Given the description of an element on the screen output the (x, y) to click on. 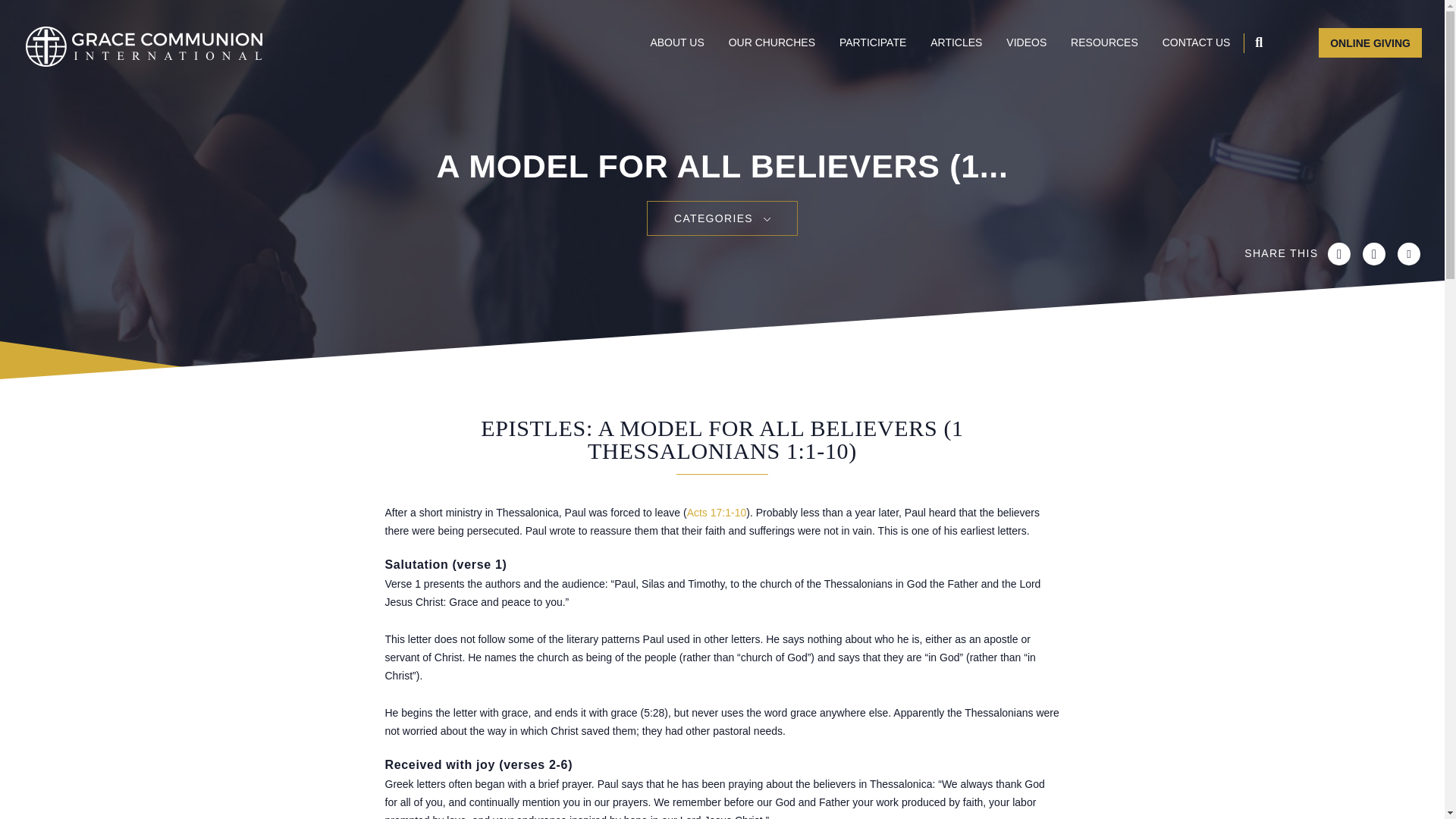
ONLINE GIVING (1370, 42)
CONTACT US (1195, 41)
VIDEOS (1026, 41)
RESOURCES (1104, 41)
ARTICLES (955, 41)
OUR CHURCHES (772, 41)
ABOUT US (676, 41)
PARTICIPATE (872, 41)
Grace Communion International (144, 46)
